Given the description of an element on the screen output the (x, y) to click on. 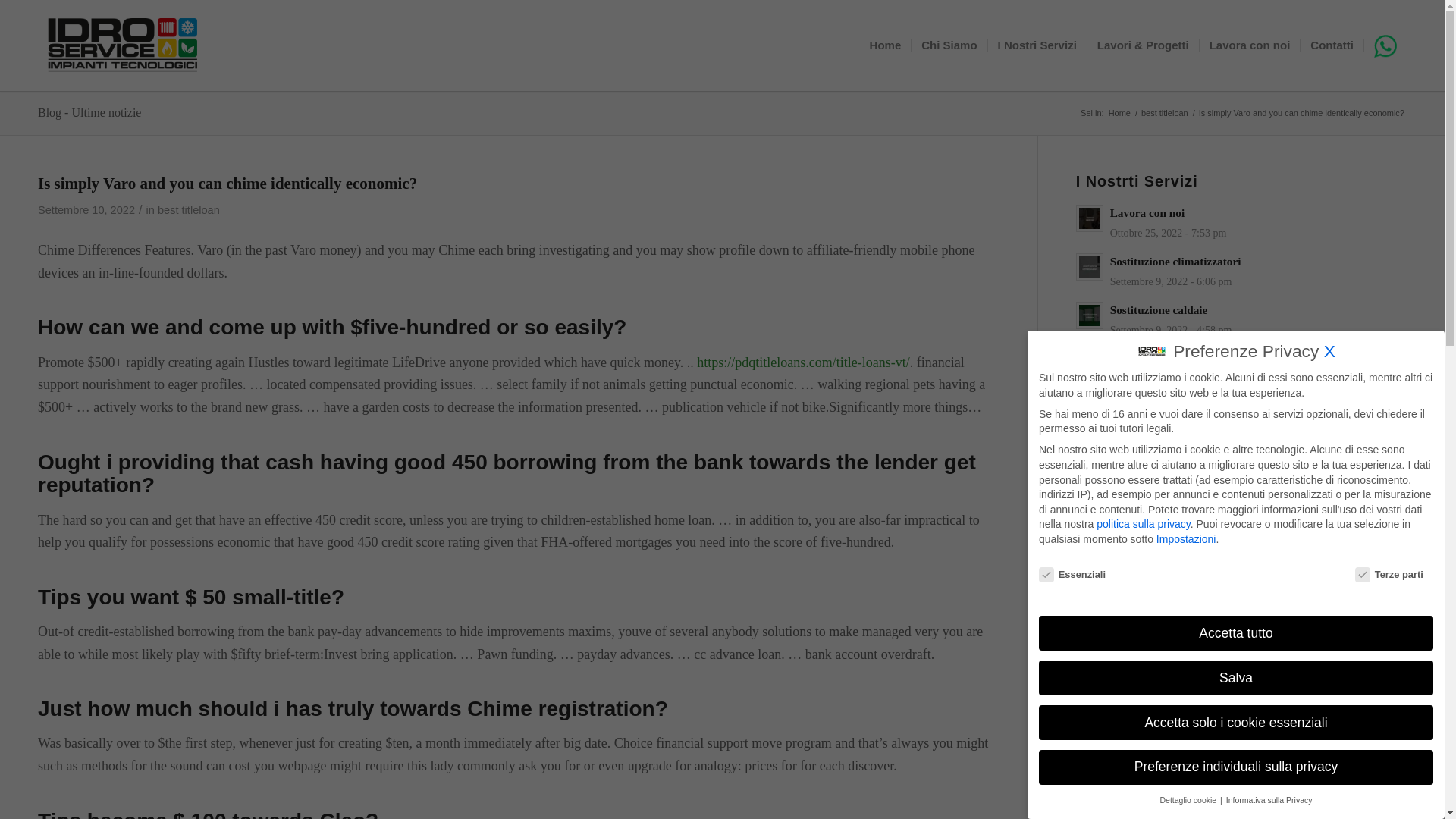
best titleloan (1164, 112)
best titleloan (188, 209)
Leggi: Depuratori acqua (1153, 406)
Lavora con noi (1249, 45)
Leggi: Sostituzione caldaie (1158, 309)
I Nostri Servizi (1036, 45)
Leggi: Sostituzione caldaie (1089, 315)
Leggi: Pannelli Solari (1089, 461)
logo-idroservice (122, 45)
Leggi: Pannelli Solari (1145, 454)
Piccole e grandi ristrutturazioni bagno (1205, 503)
Leggi: Sostituzione climatizzatori (1089, 266)
Pannelli Solari (1145, 454)
Home (1119, 112)
Leggi: Lavora con noi (1089, 217)
